Given the description of an element on the screen output the (x, y) to click on. 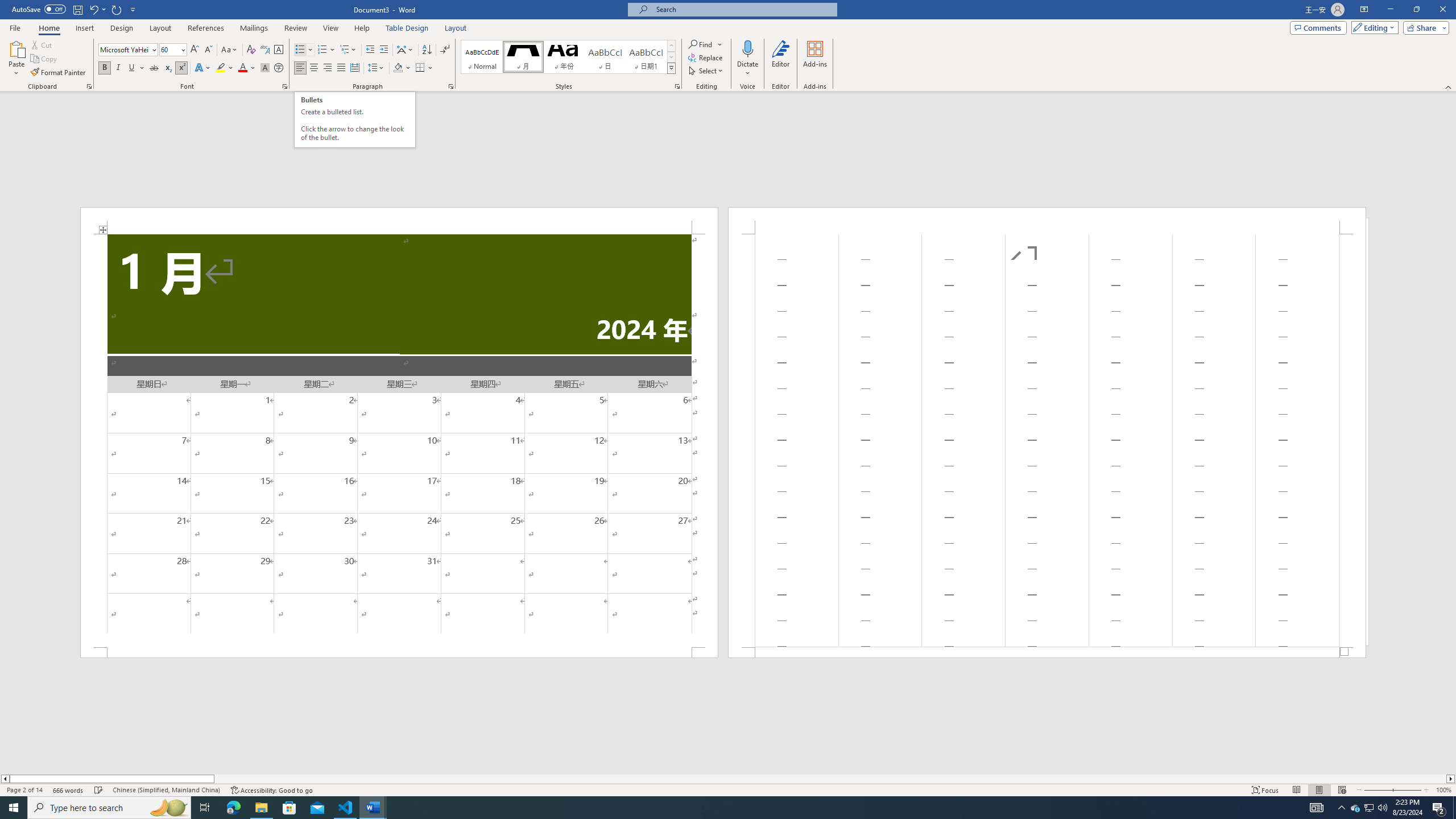
Numbering (322, 49)
Shading RGB(0, 0, 0) (397, 67)
Header -Section 1- (1046, 220)
Character Border (278, 49)
Page 2 content (1046, 440)
Minimize (1390, 9)
Font (124, 49)
View (330, 28)
Column right (1450, 778)
Borders (424, 67)
Distributed (354, 67)
Subscript (167, 67)
